Given the description of an element on the screen output the (x, y) to click on. 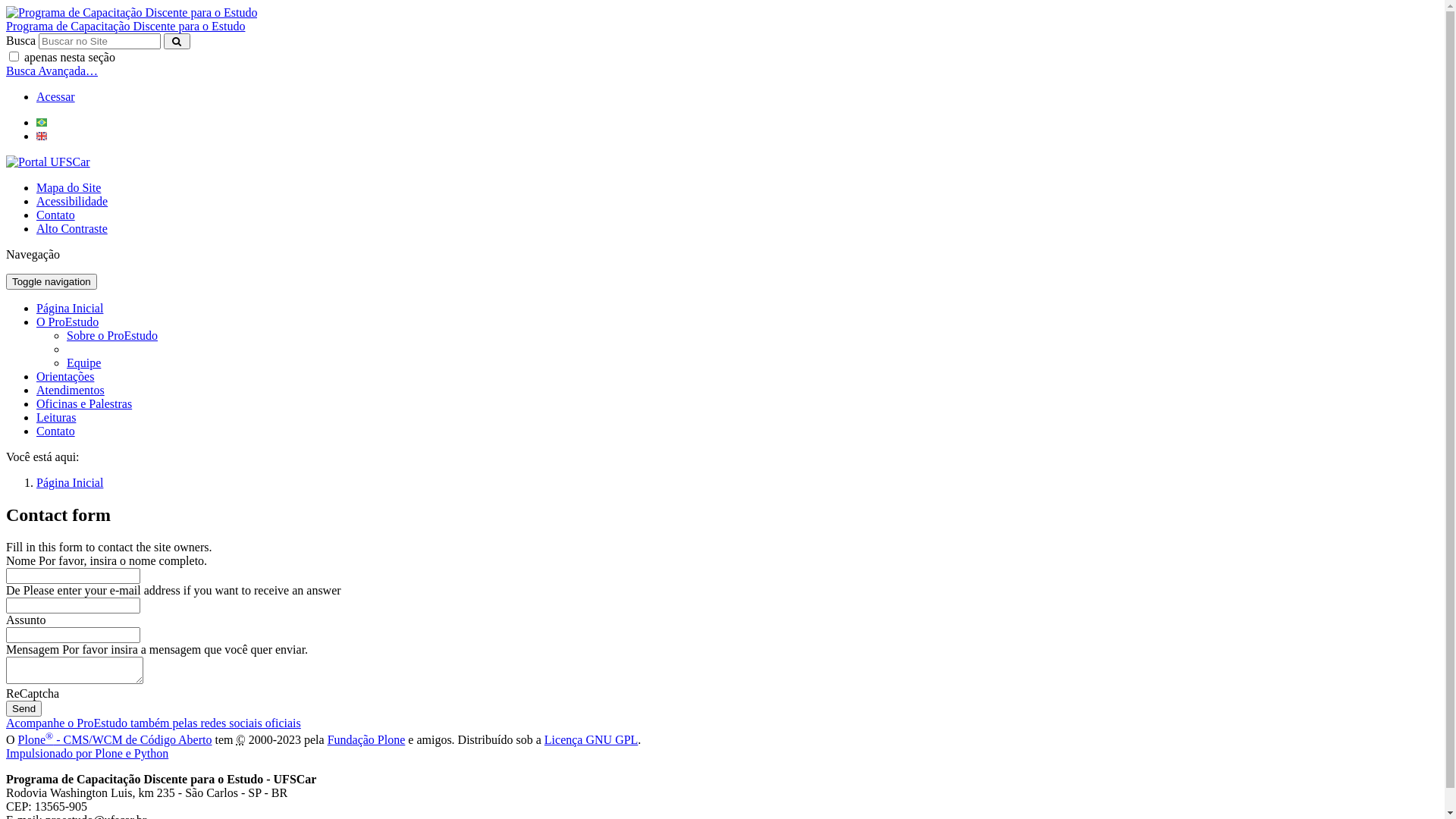
Oficinas e Palestras Element type: text (83, 403)
Buscar no Site Element type: hover (99, 41)
Atendimentos Element type: text (70, 389)
Equipe Element type: text (83, 362)
Sobre o ProEstudo Element type: text (111, 335)
Contato Element type: text (55, 430)
Send Element type: text (23, 708)
Acessibilidade Element type: text (71, 200)
English Element type: hover (41, 135)
O ProEstudo Element type: text (67, 321)
Mapa do Site Element type: text (68, 187)
Toggle navigation Element type: text (51, 281)
Acessar Element type: text (55, 96)
Alto Contraste Element type: text (71, 228)
Leituras Element type: text (55, 417)
English Element type: hover (41, 135)
Portal UFSCar Element type: hover (48, 161)
Contato Element type: text (55, 214)
Impulsionado por Plone e Python Element type: text (87, 752)
